Given the description of an element on the screen output the (x, y) to click on. 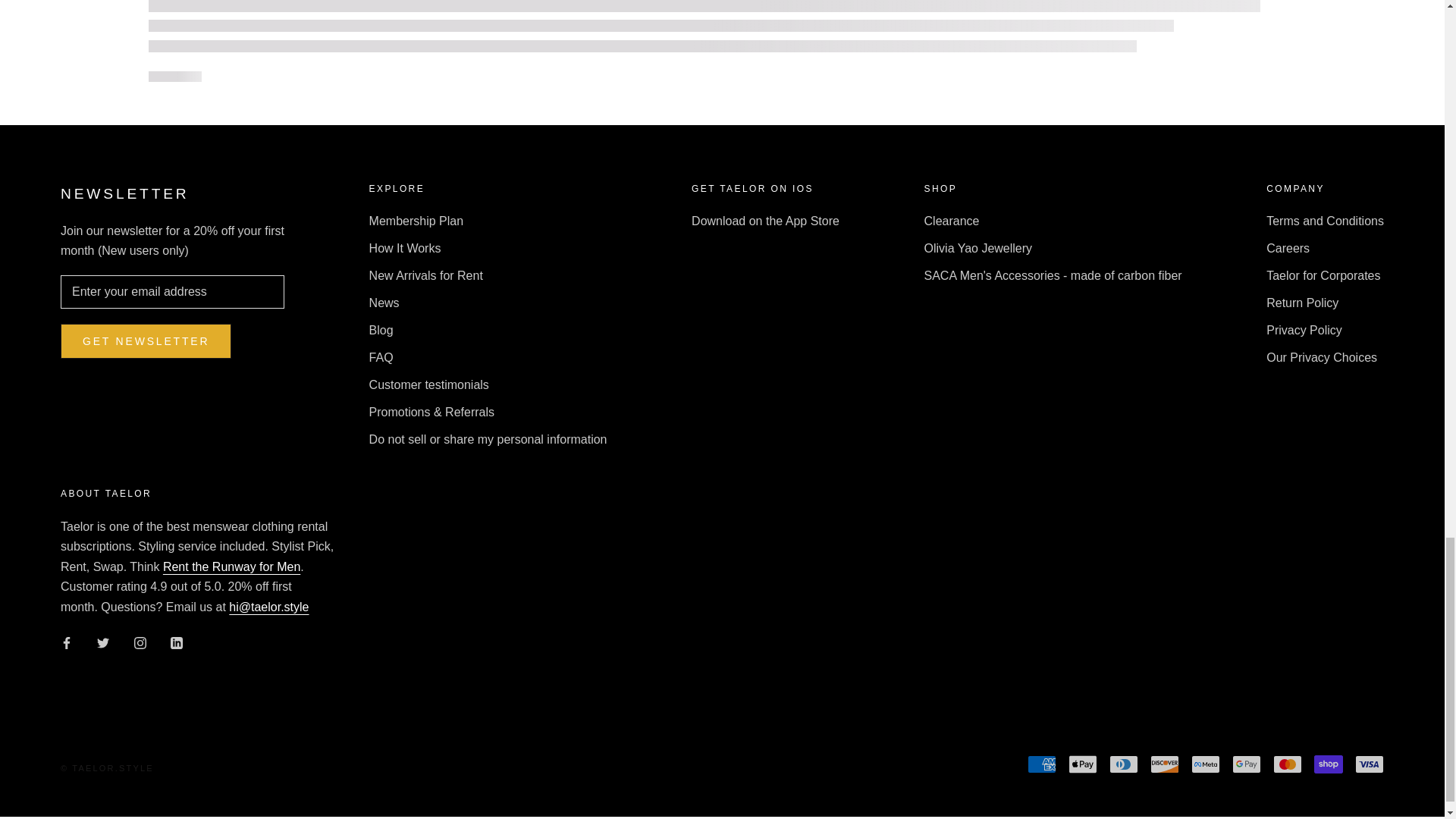
American Express (1042, 764)
Diners Club (1123, 764)
Rent the Runway for Men (231, 566)
Google Pay (1245, 764)
Mastercard (1286, 764)
Discover (1164, 764)
Meta Pay (1205, 764)
Apple Pay (1082, 764)
Shop Pay (1328, 764)
Visa (1369, 764)
